Given the description of an element on the screen output the (x, y) to click on. 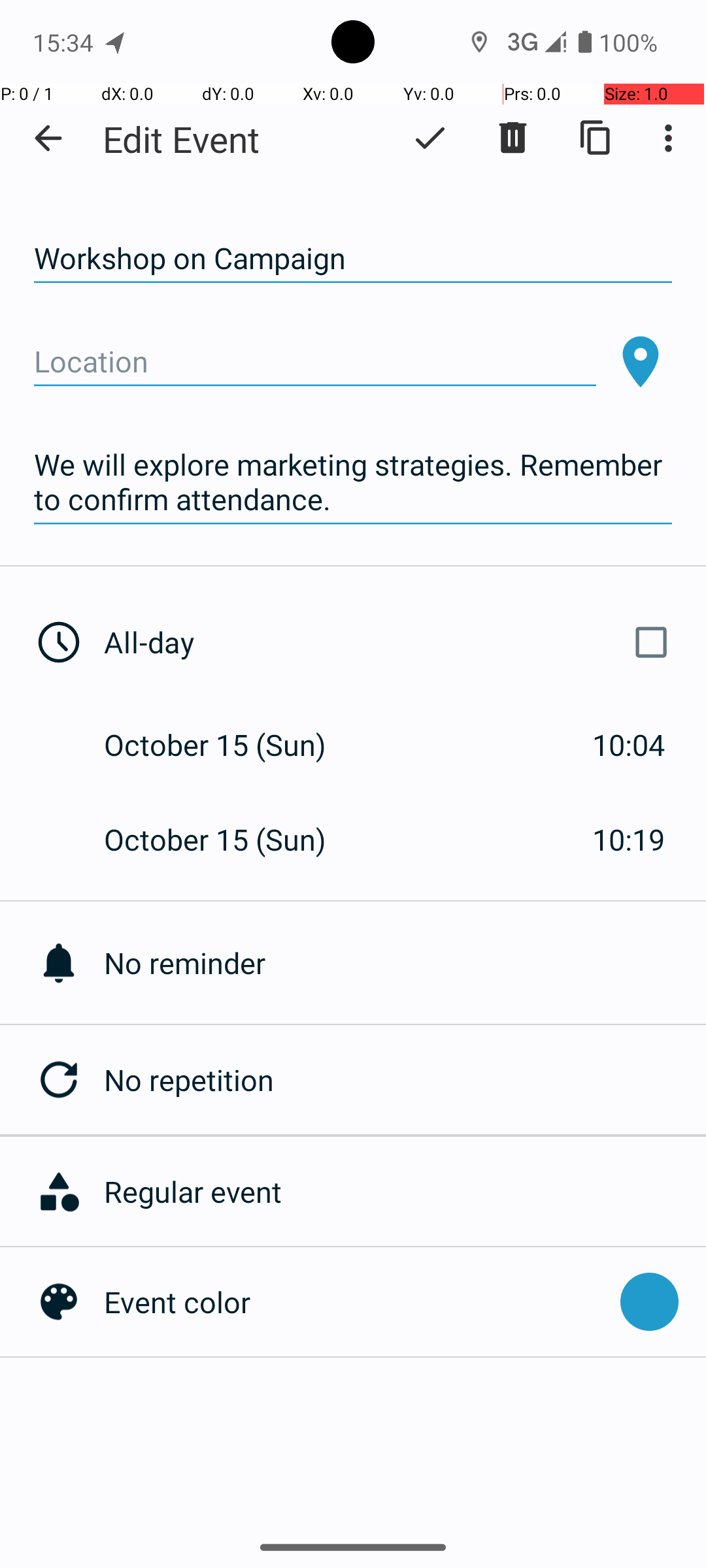
Edit Event Element type: android.widget.TextView (181, 138)
Duplicate event Element type: android.widget.Button (595, 137)
Workshop on Campaign Element type: android.widget.EditText (352, 258)
We will explore marketing strategies. Remember to confirm attendance. Element type: android.widget.EditText (352, 482)
October 15 (Sun) Element type: android.widget.TextView (228, 744)
10:04 Element type: android.widget.TextView (628, 744)
10:19 Element type: android.widget.TextView (628, 838)
No reminder Element type: android.widget.TextView (404, 962)
No repetition Element type: android.widget.TextView (404, 1079)
Event color Element type: android.widget.TextView (354, 1301)
